Given the description of an element on the screen output the (x, y) to click on. 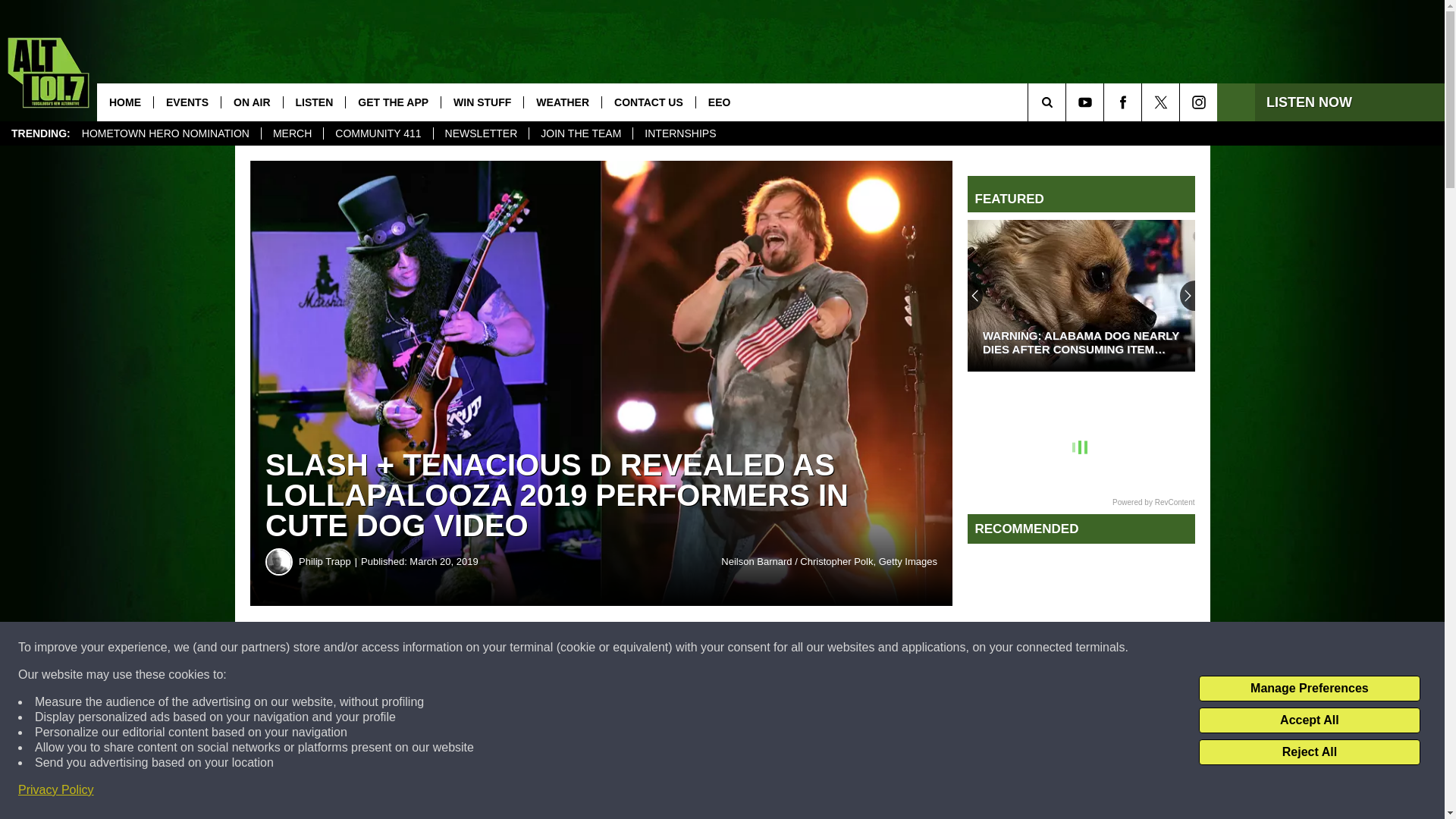
Reject All (1309, 751)
COMMUNITY 411 (377, 133)
SEARCH (1068, 102)
INTERNSHIPS (678, 133)
Privacy Policy (55, 789)
MERCH (291, 133)
WIN STUFF (481, 102)
EVENTS (186, 102)
HOMETOWN HERO NOMINATION (164, 133)
ON AIR (251, 102)
Manage Preferences (1309, 688)
Accept All (1309, 720)
SEARCH (1068, 102)
JOIN THE TEAM (579, 133)
NEWSLETTER (480, 133)
